Given the description of an element on the screen output the (x, y) to click on. 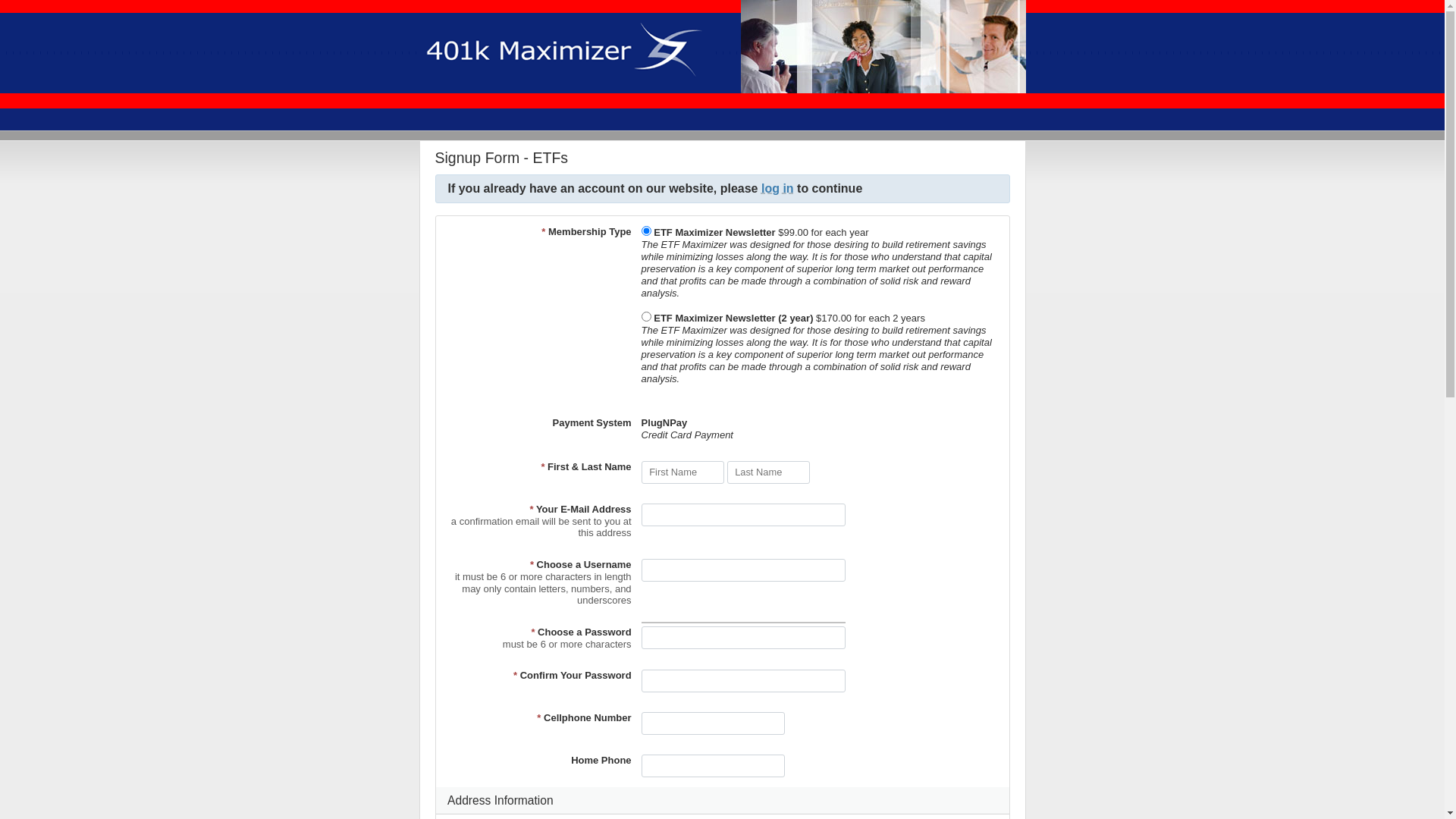
Password Strength Element type: hover (743, 622)
log in Element type: text (777, 188)
